Given the description of an element on the screen output the (x, y) to click on. 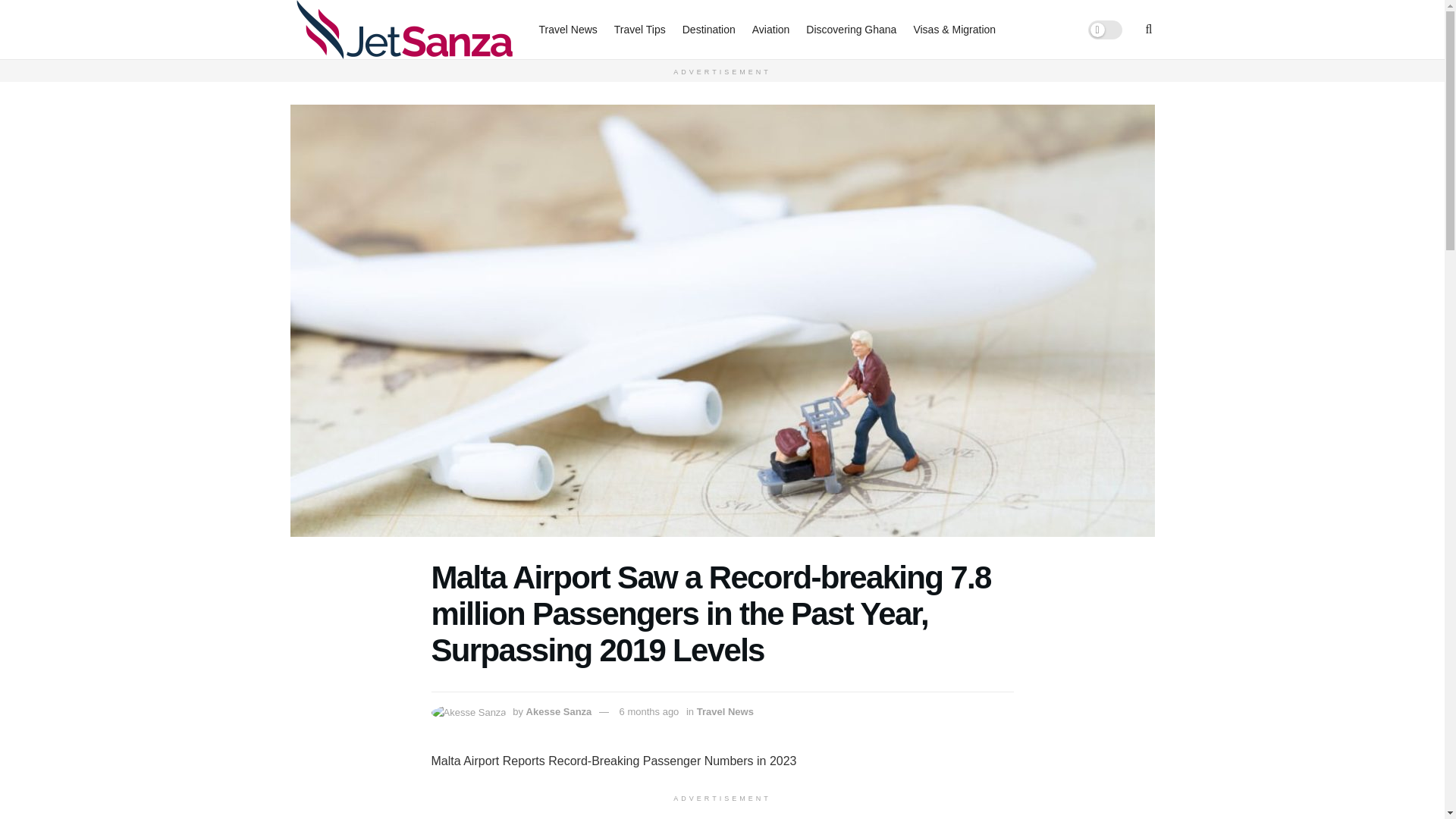
6 months ago (649, 711)
Travel News (725, 711)
Akesse Sanza (558, 711)
Destination (708, 29)
Travel Tips (639, 29)
Discovering Ghana (851, 29)
Travel News (567, 29)
Aviation (771, 29)
